Given the description of an element on the screen output the (x, y) to click on. 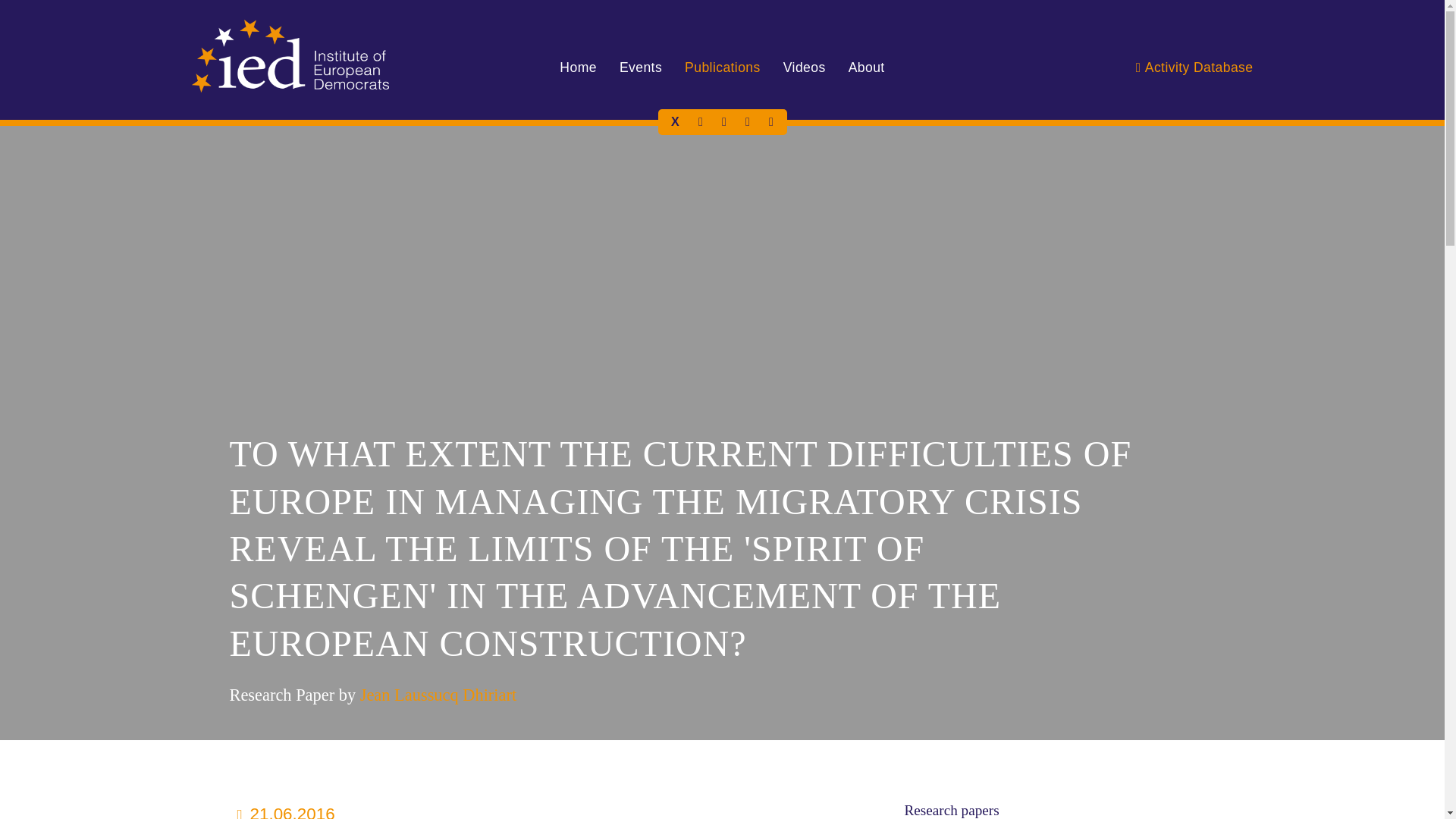
Videos (804, 66)
Events (640, 66)
Home (578, 66)
X (675, 121)
About (866, 66)
IED Institute of European Democrats Brussels (289, 55)
Publications (721, 66)
X formerly twitter (675, 121)
Activity Database (1194, 66)
Jean Laussucq Dhiriart (437, 694)
